Given the description of an element on the screen output the (x, y) to click on. 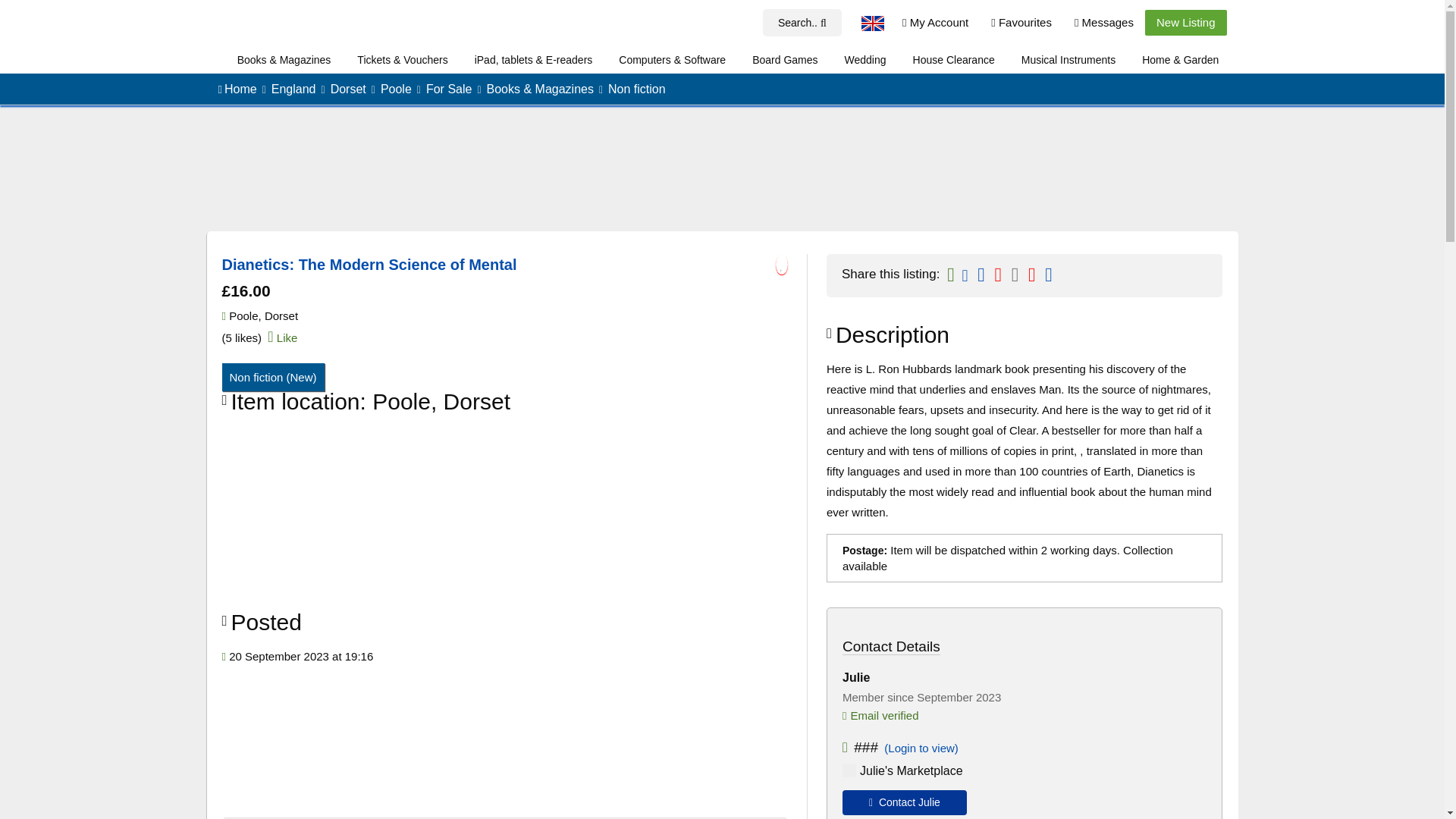
Board Games (784, 60)
Dorset (348, 88)
For Sale (448, 88)
 Favourites (1020, 22)
Home (240, 88)
Poole (396, 88)
Search NomTimes (802, 22)
Post new listing (1185, 22)
My Account (935, 22)
England (292, 88)
